Given the description of an element on the screen output the (x, y) to click on. 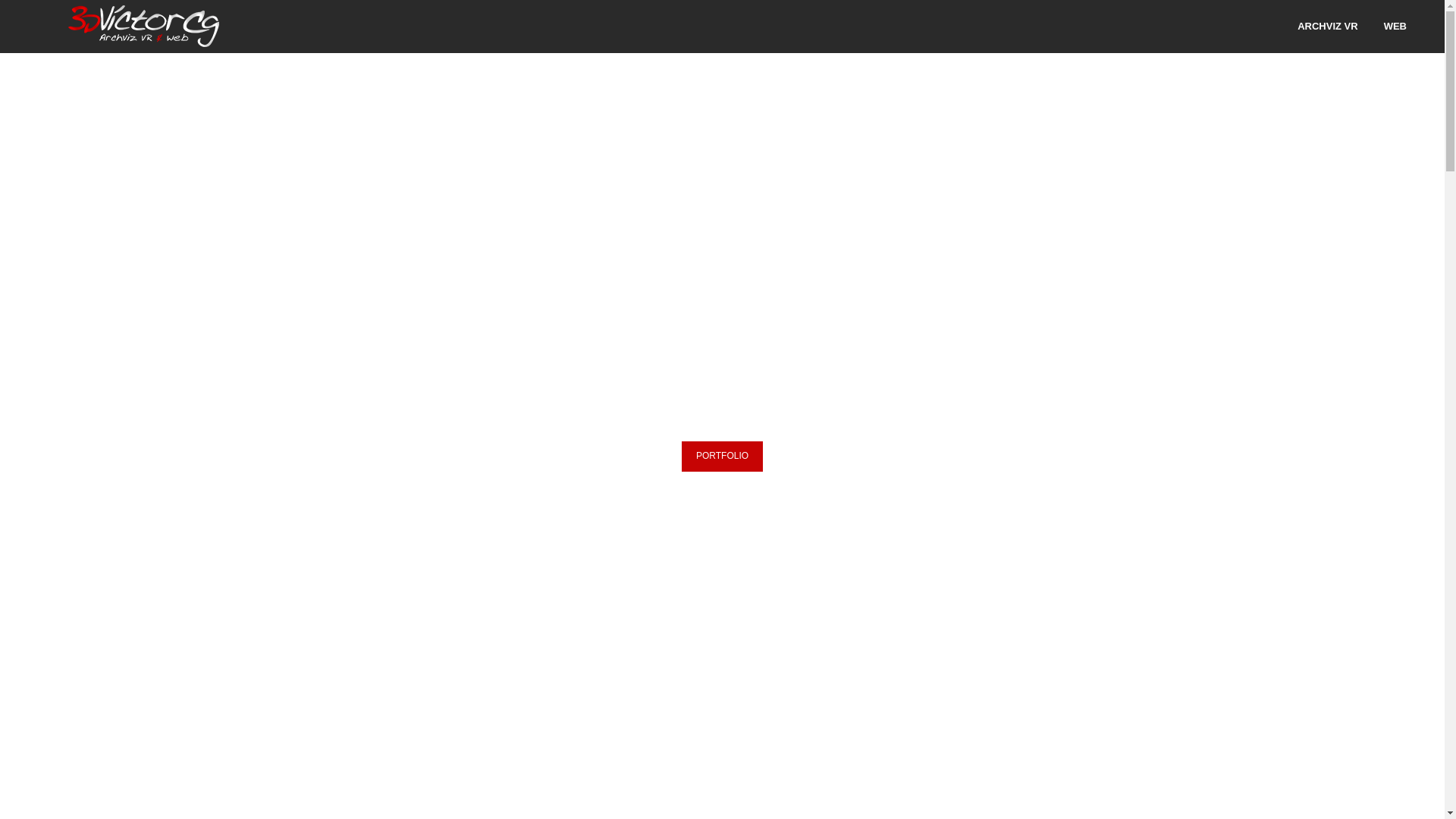
WEB Element type: text (1388, 26)
ARCHVIZ VR Element type: text (1327, 26)
PORTFOLIO Element type: text (721, 455)
